Given the description of an element on the screen output the (x, y) to click on. 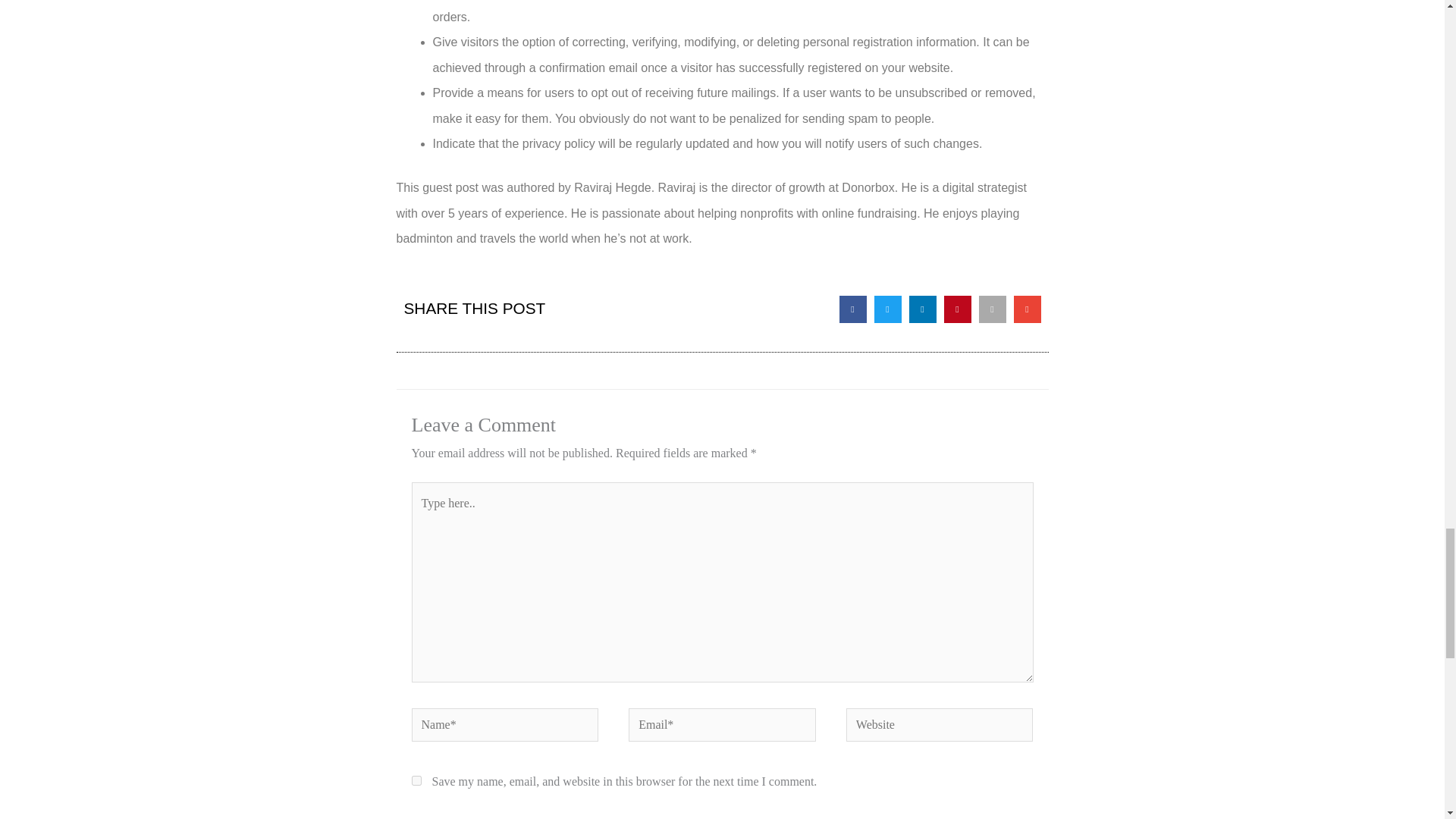
yes (415, 780)
